Given the description of an element on the screen output the (x, y) to click on. 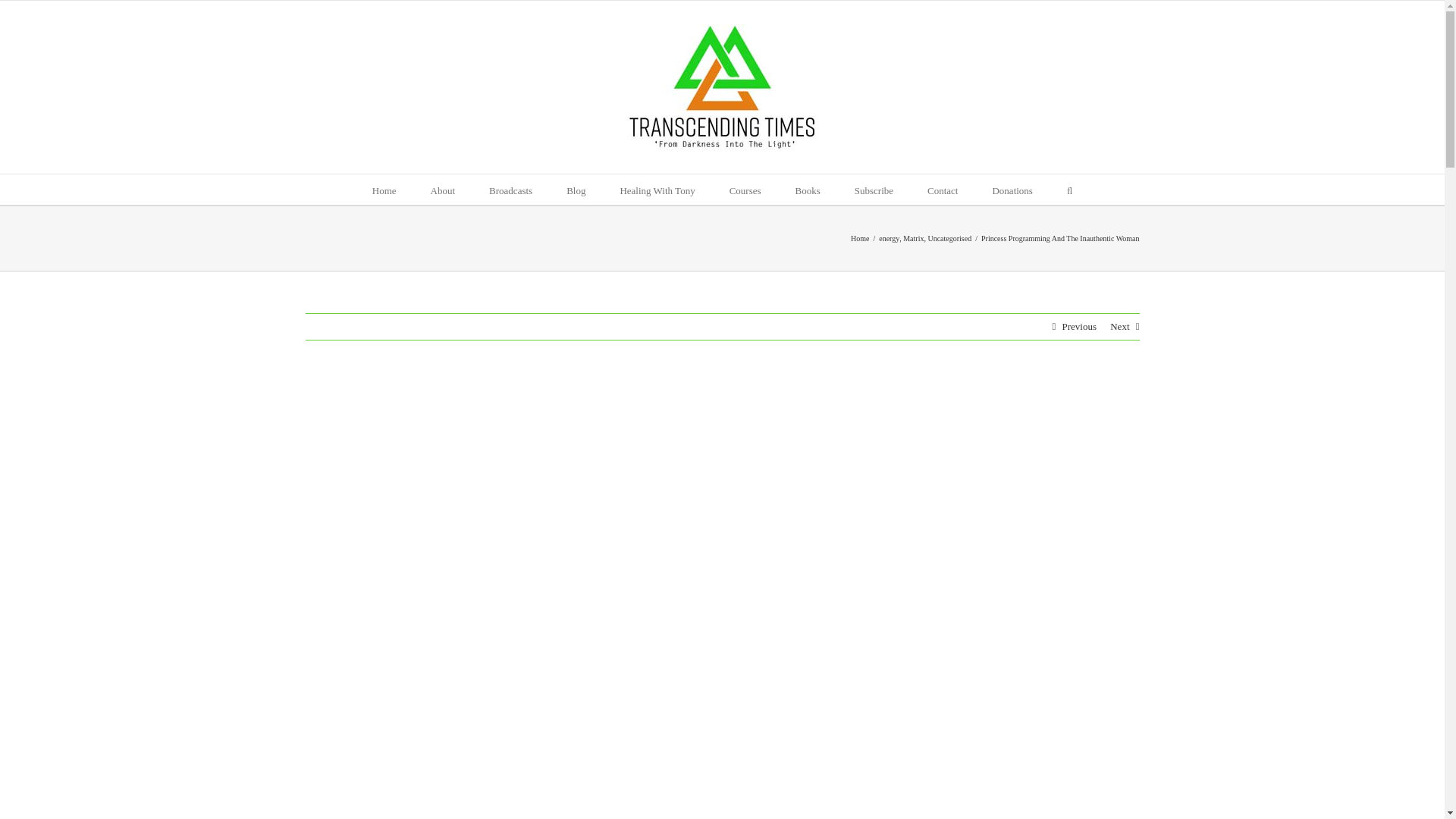
Donations (1011, 189)
Previous (1078, 326)
Uncategorised (949, 238)
Subscribe to newsletters (873, 189)
Healing With Tony (657, 189)
Matrix (912, 238)
Contact (942, 189)
Home (859, 238)
Courses (745, 189)
Broadcasts (510, 189)
Subscribe (873, 189)
energy (889, 238)
